Given the description of an element on the screen output the (x, y) to click on. 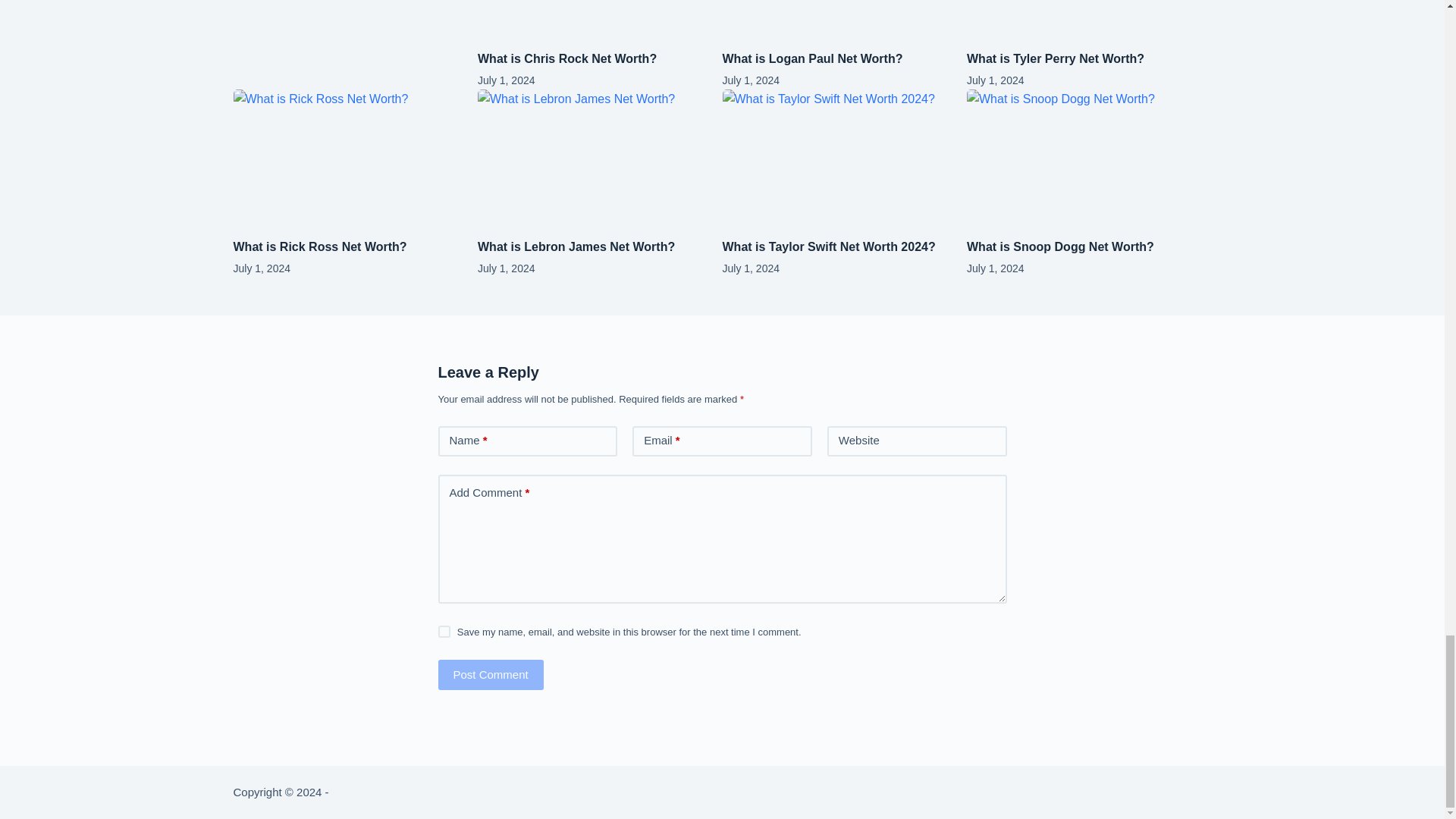
yes (443, 631)
